Given the description of an element on the screen output the (x, y) to click on. 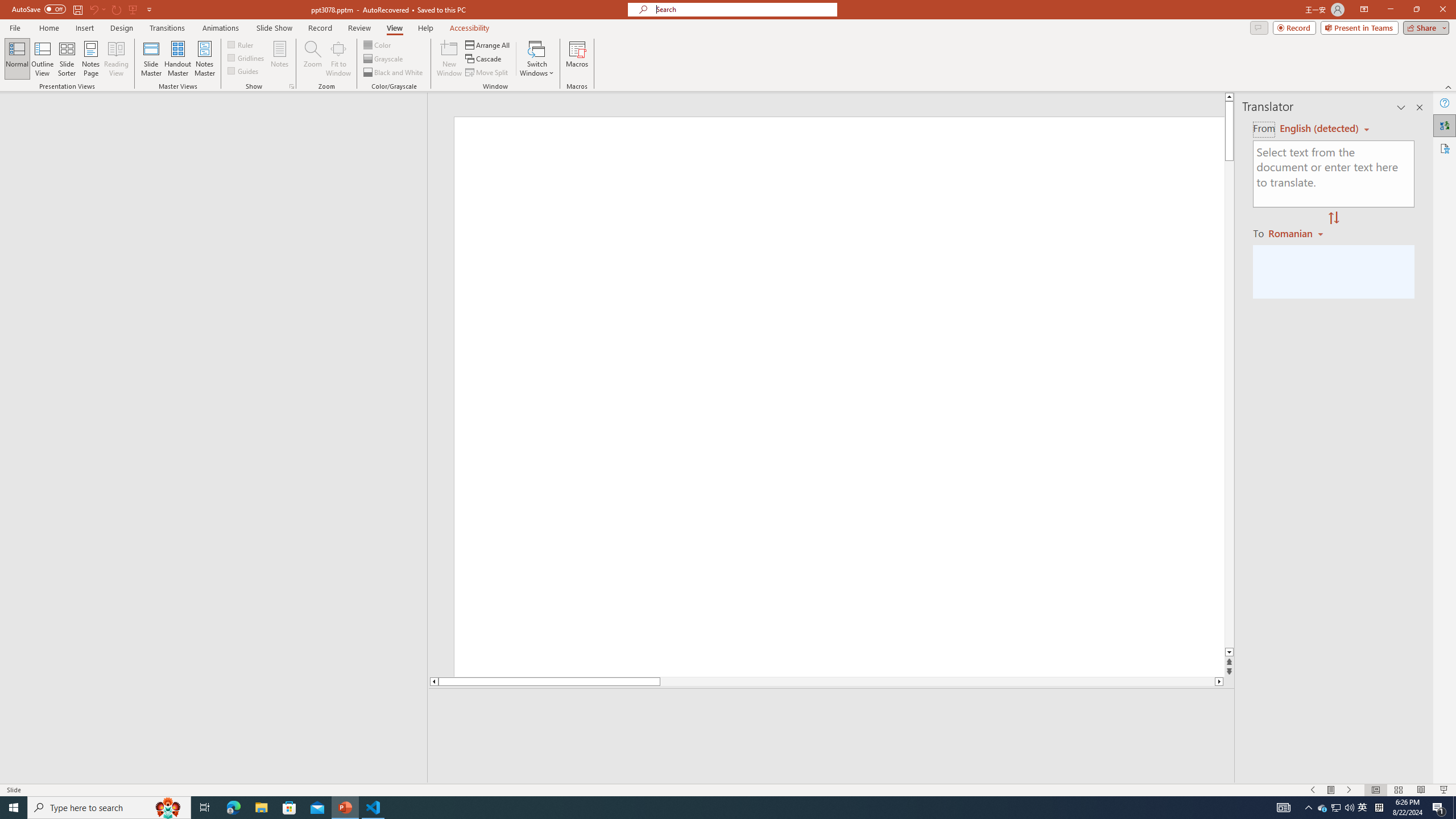
Macros (576, 58)
Ruler (241, 44)
New Window (449, 58)
Zoom... (312, 58)
